Given the description of an element on the screen output the (x, y) to click on. 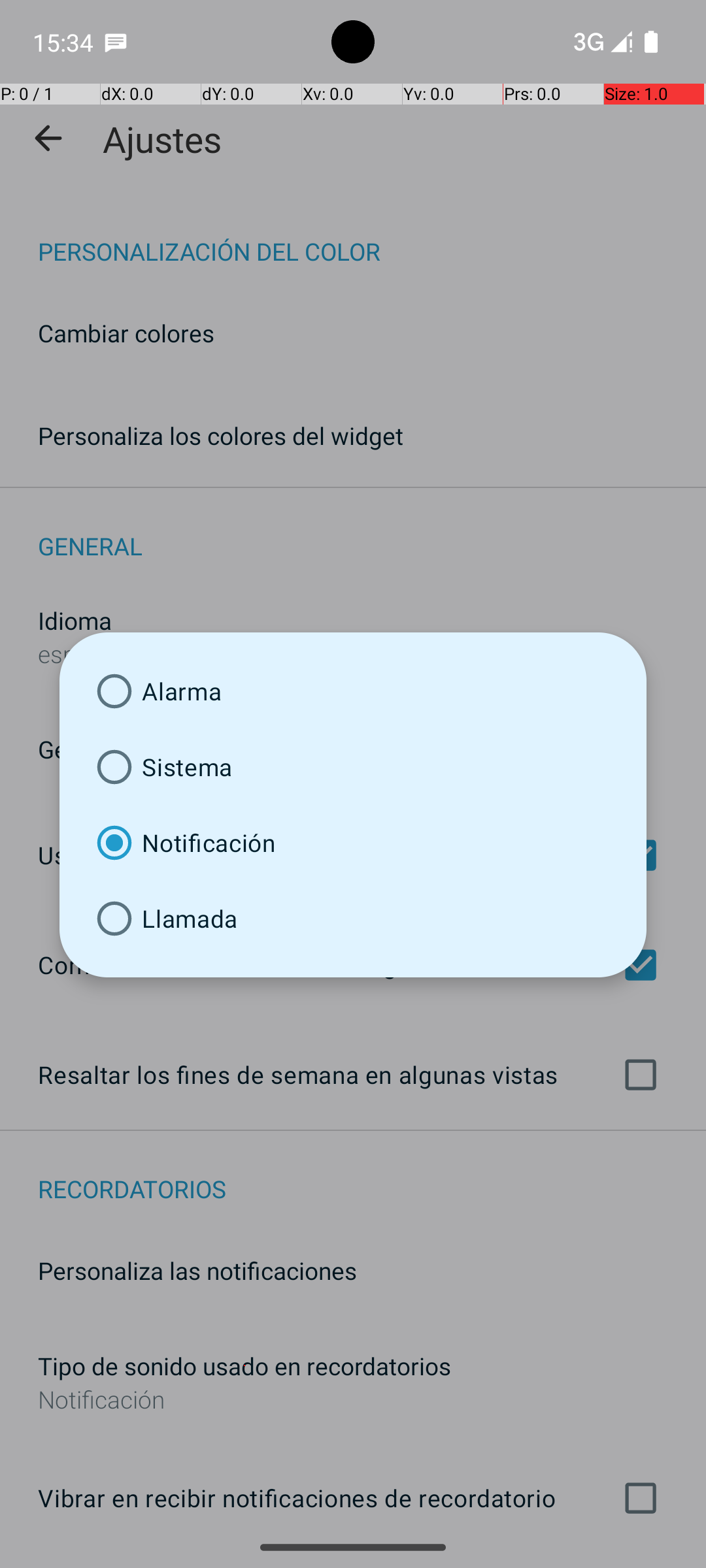
Alarma Element type: android.widget.RadioButton (352, 691)
Sistema Element type: android.widget.RadioButton (352, 766)
Llamada Element type: android.widget.RadioButton (352, 918)
